Given the description of an element on the screen output the (x, y) to click on. 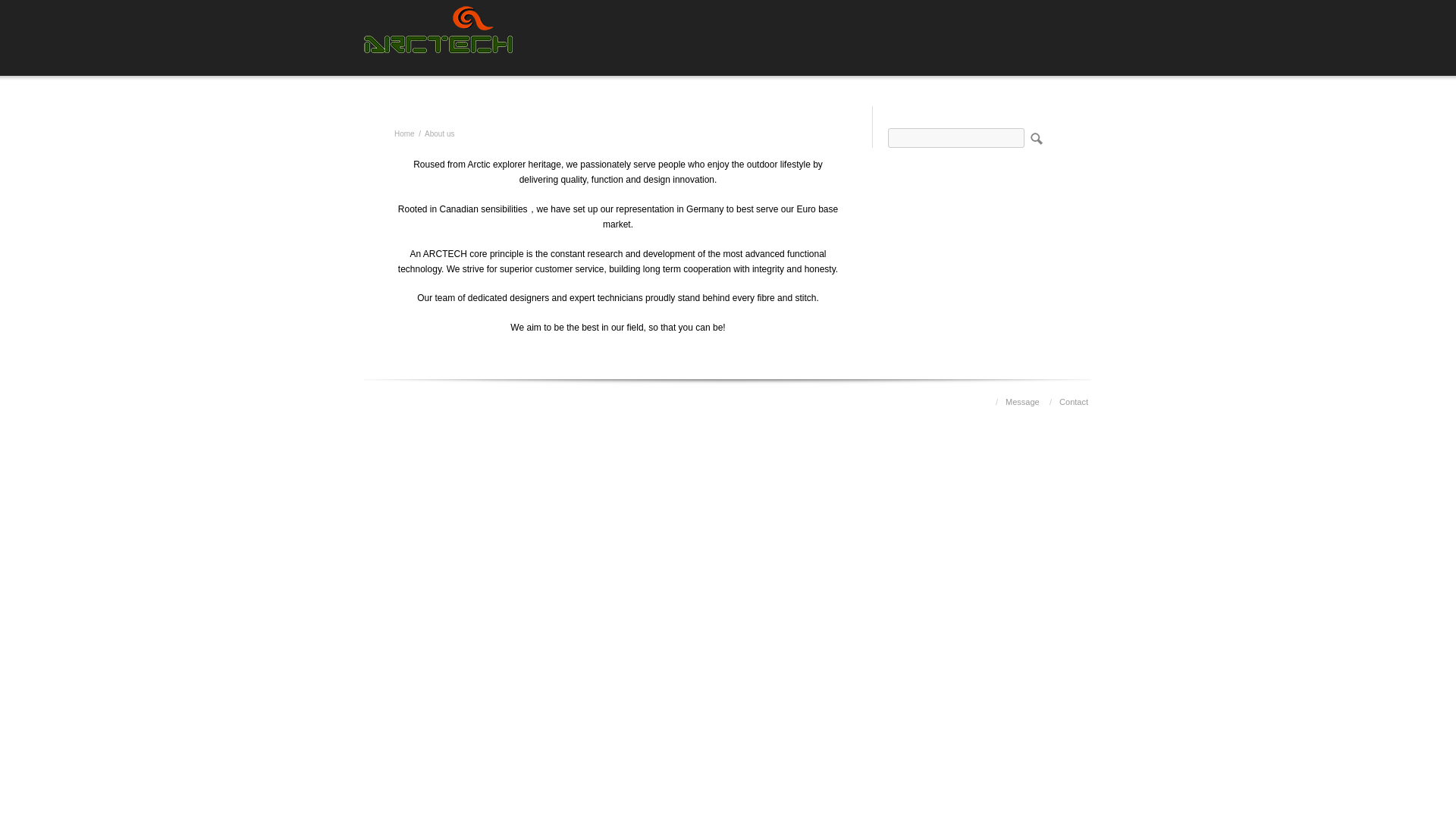
Contact (1073, 401)
Search (1034, 138)
Message (1021, 401)
Search (1034, 138)
Home (404, 133)
Search (1034, 138)
